Given the description of an element on the screen output the (x, y) to click on. 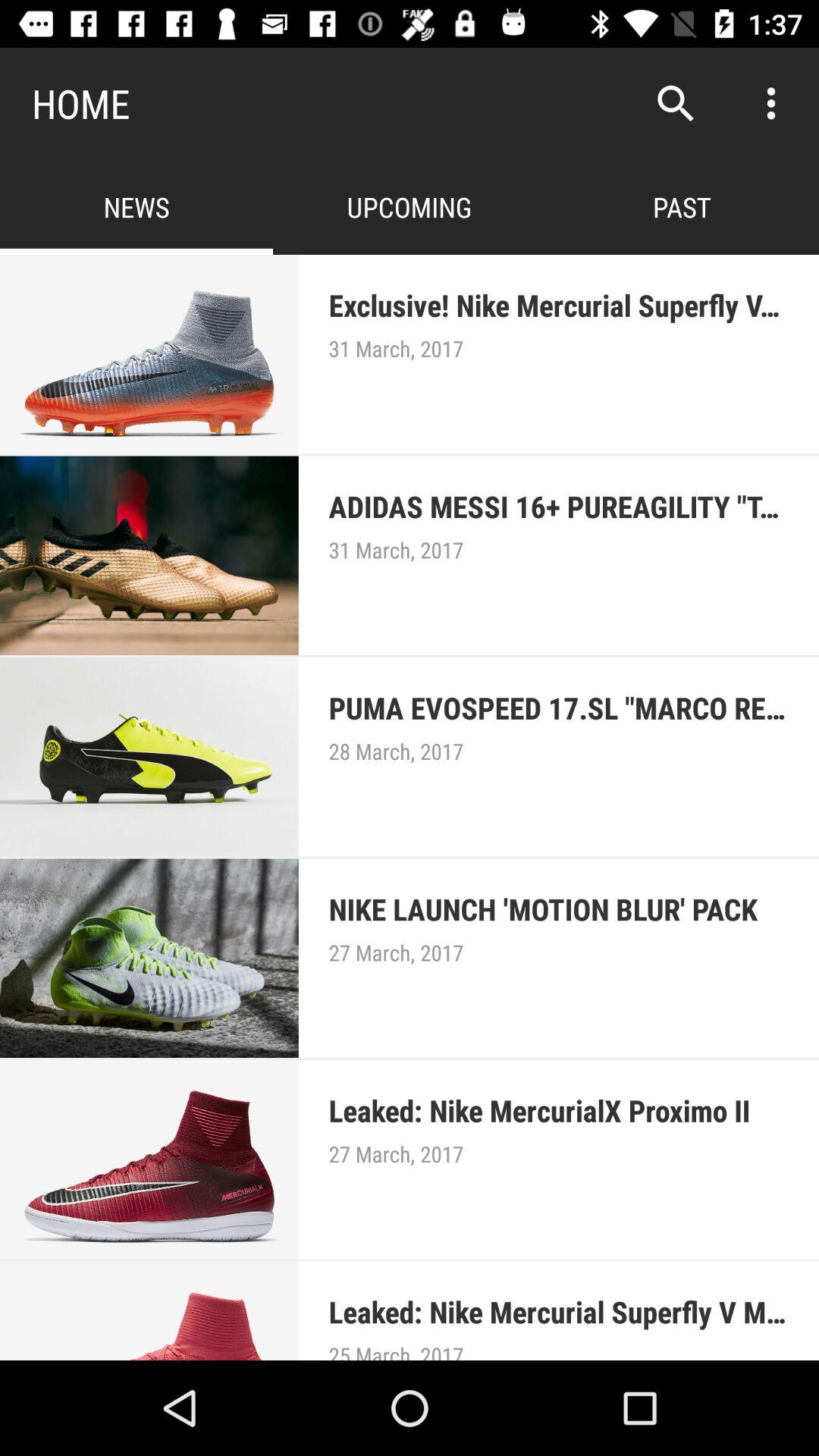
turn off icon above exclusive nike mercurial icon (771, 103)
